Given the description of an element on the screen output the (x, y) to click on. 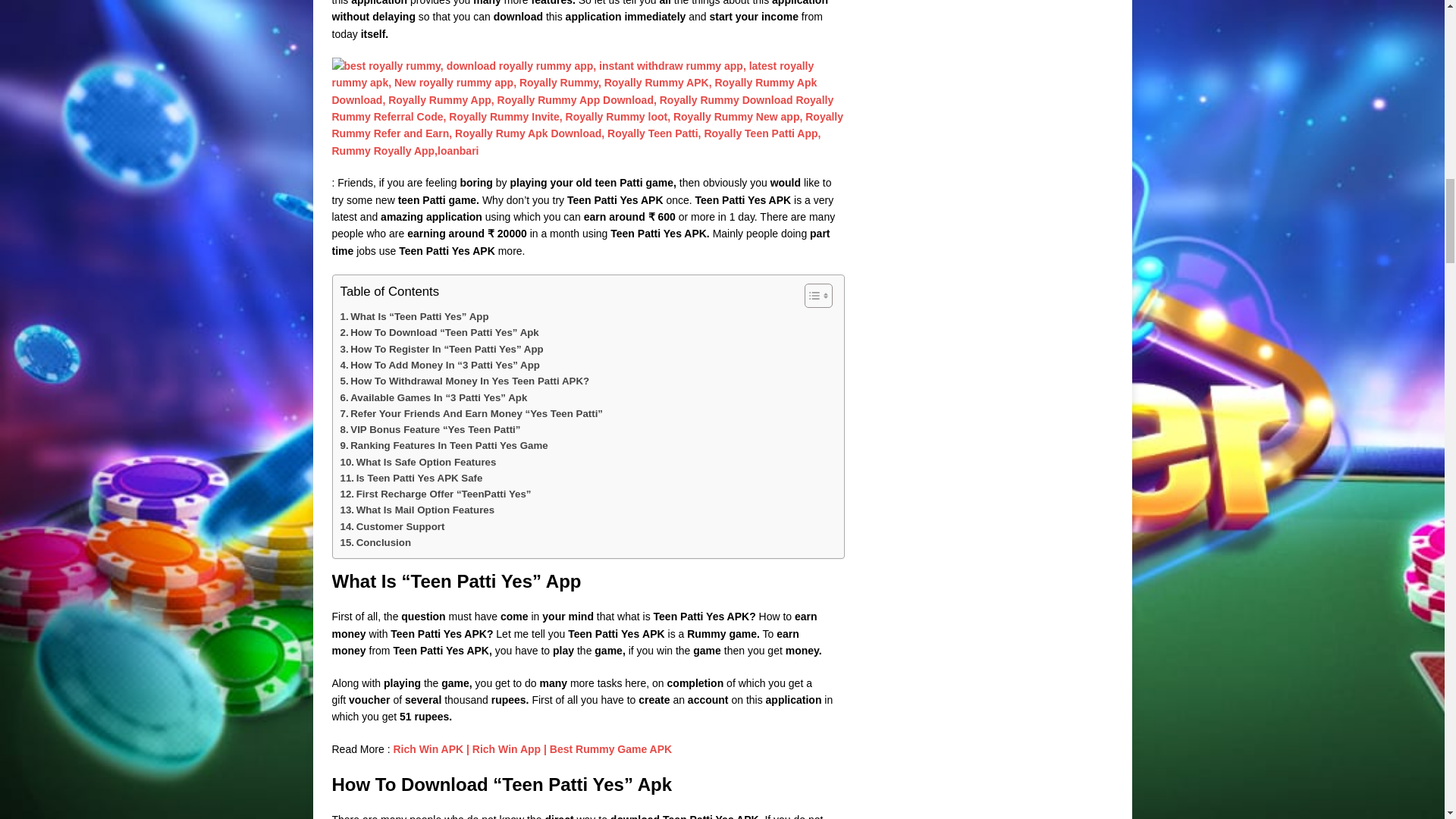
Is Teen Patti Yes APK Safe (410, 478)
Conclusion (374, 542)
How To Withdrawal Money In Yes Teen Patti APK? (464, 381)
How To Withdrawal Money In Yes Teen Patti APK? (464, 381)
Ranking Features In Teen Patti Yes Game (443, 445)
What Is Safe Option Features (417, 462)
What Is Mail Option Features (417, 509)
Customer Support (391, 526)
